Given the description of an element on the screen output the (x, y) to click on. 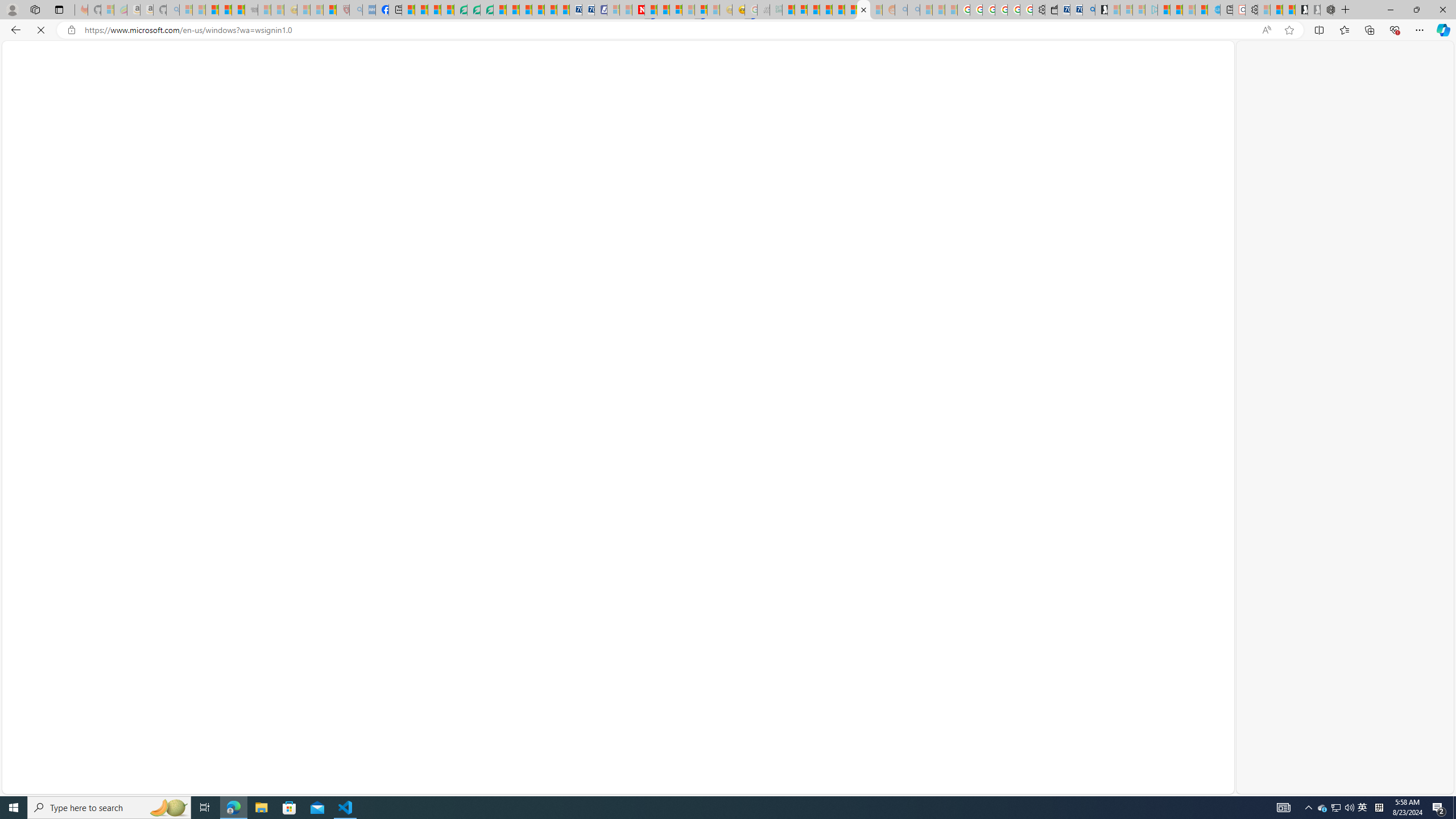
Cheap Hotels - Save70.com (587, 9)
